Given the description of an element on the screen output the (x, y) to click on. 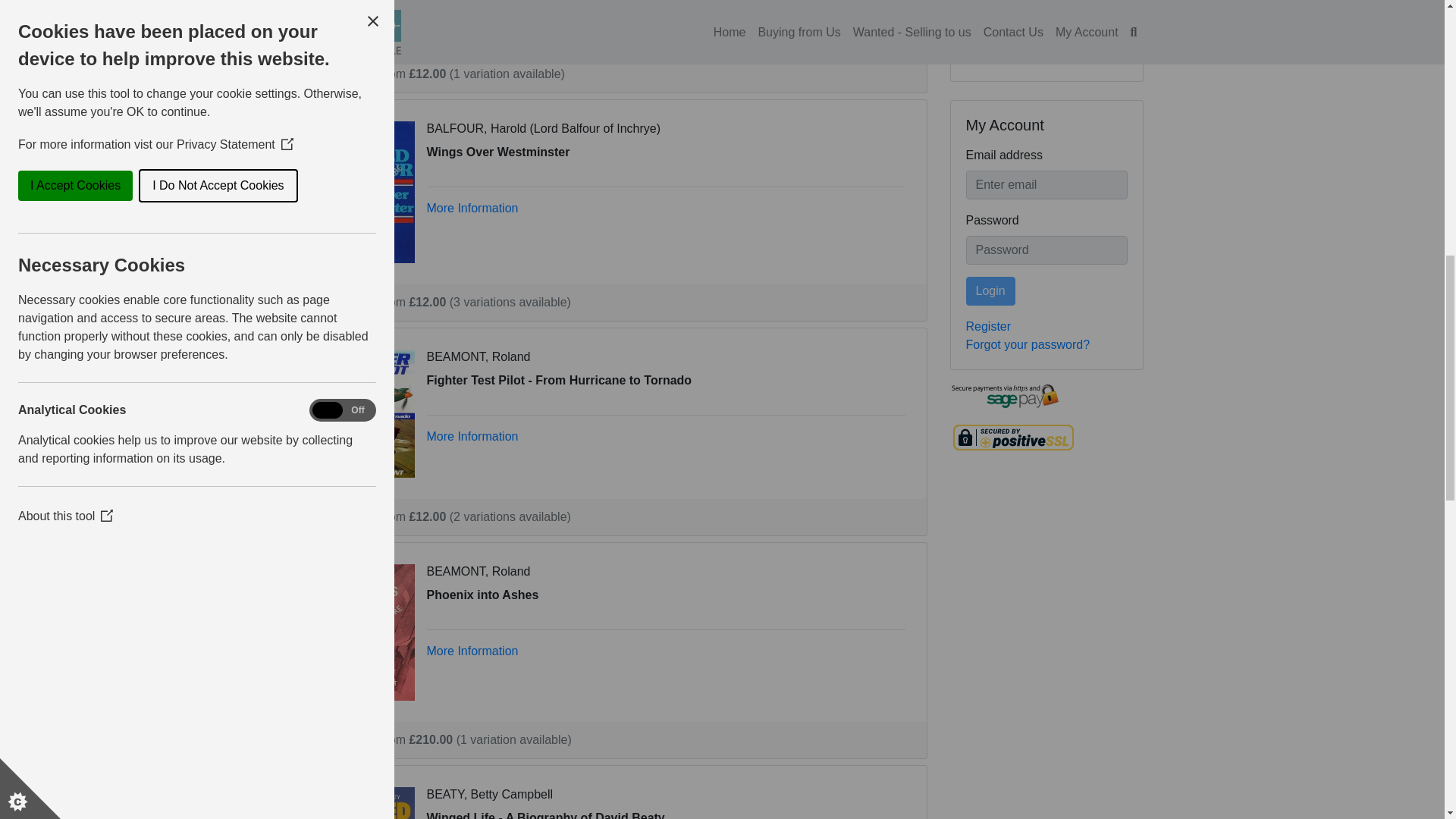
Advanced Search (1013, 56)
Register (988, 326)
Register with Transport Store (988, 326)
Forgot your password? (1028, 344)
Advanced Search (1013, 56)
Phoenix into Ashes by BEAMONT, Roland (368, 631)
Find Books (1006, 21)
Login (990, 290)
